Given the description of an element on the screen output the (x, y) to click on. 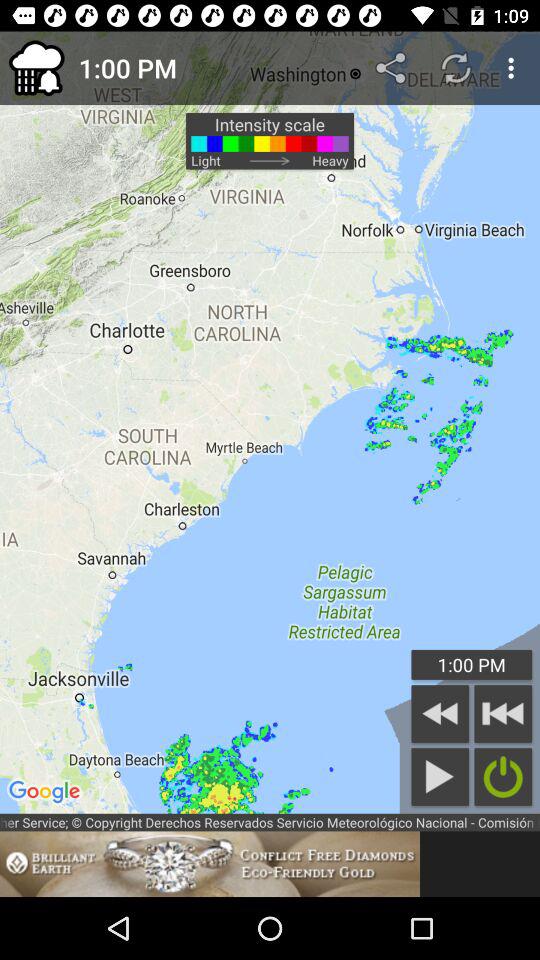
power button (503, 776)
